Given the description of an element on the screen output the (x, y) to click on. 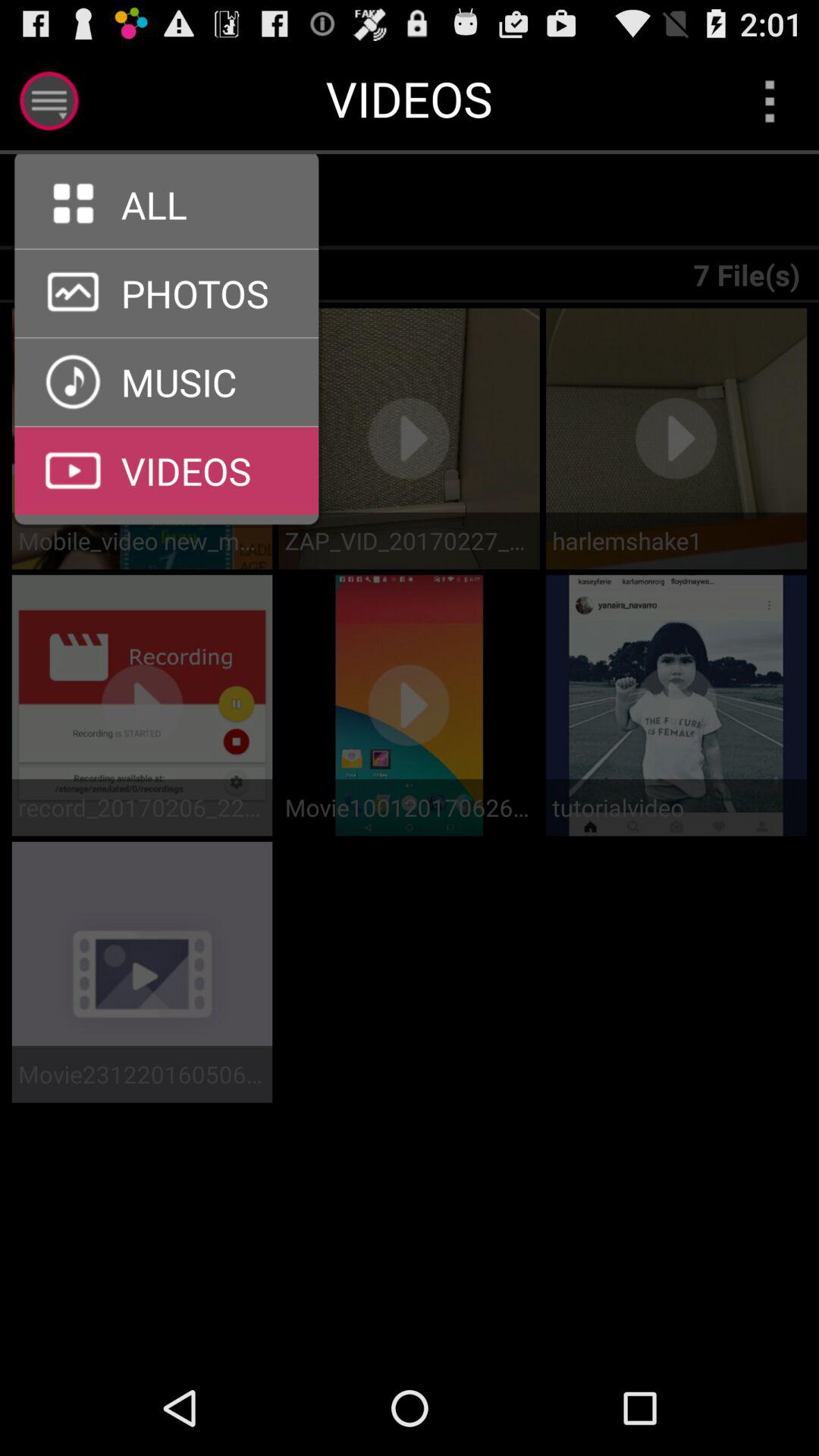
click the mobile_video new_mgautoplay item (141, 540)
